Given the description of an element on the screen output the (x, y) to click on. 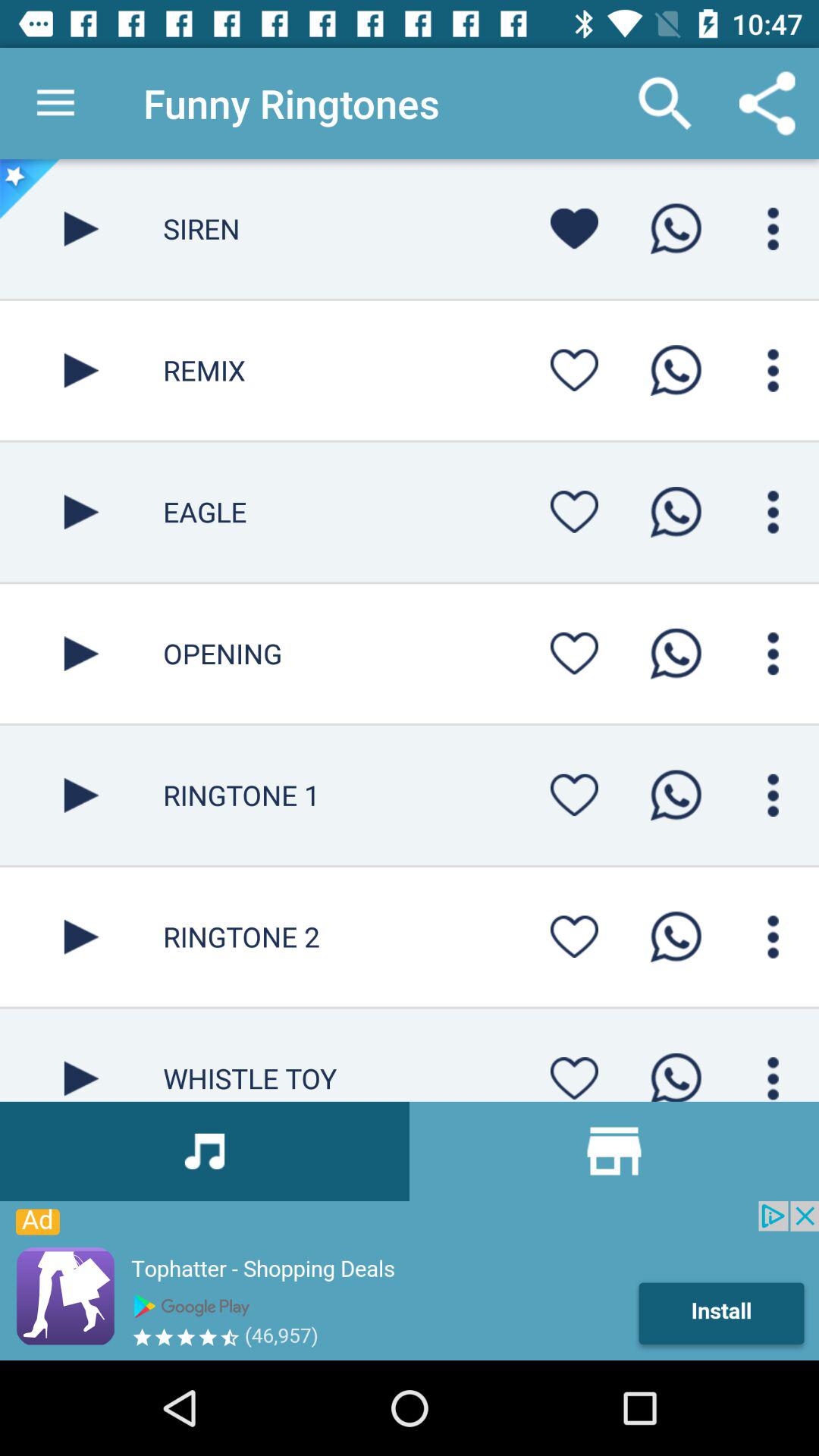
play (81, 936)
